Given the description of an element on the screen output the (x, y) to click on. 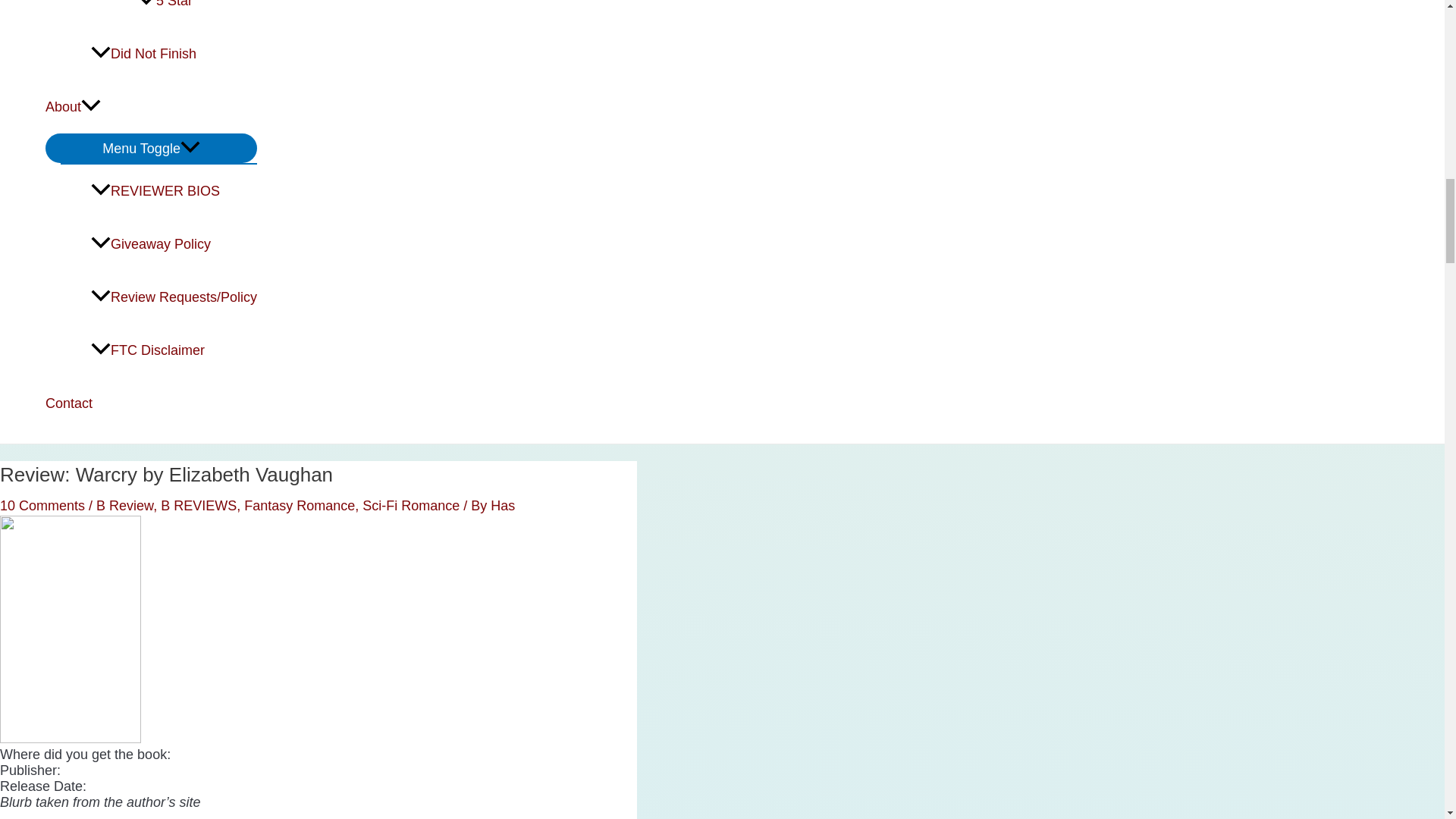
REVIEWER BIOS (173, 190)
View all posts by Has (502, 505)
5 Star (196, 13)
Menu Toggle (151, 147)
About (151, 106)
Giveaway Policy (173, 244)
Did Not Finish (173, 53)
